Given the description of an element on the screen output the (x, y) to click on. 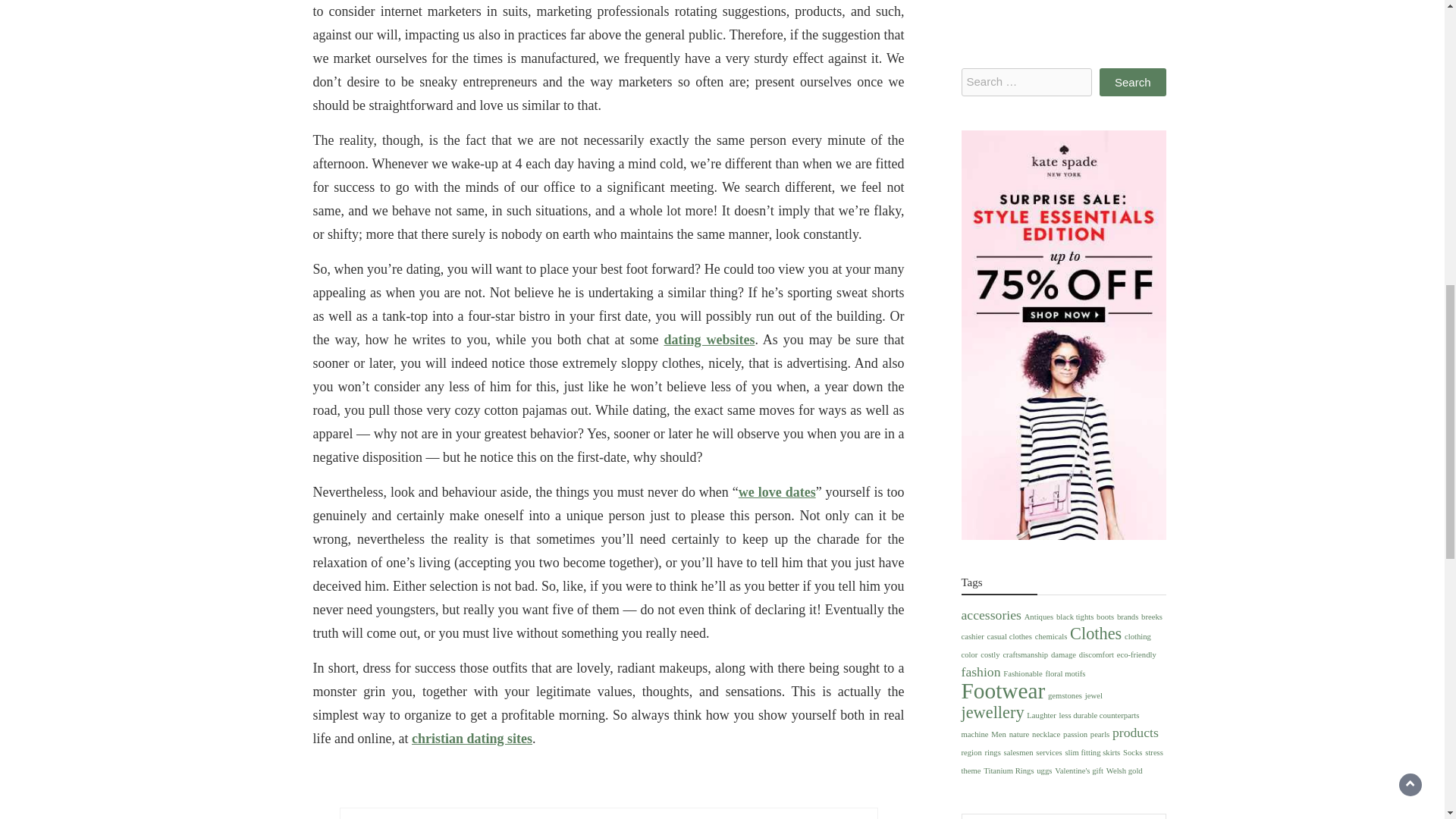
we love dates (776, 491)
dating websites (708, 339)
christian dating sites (472, 738)
